Given the description of an element on the screen output the (x, y) to click on. 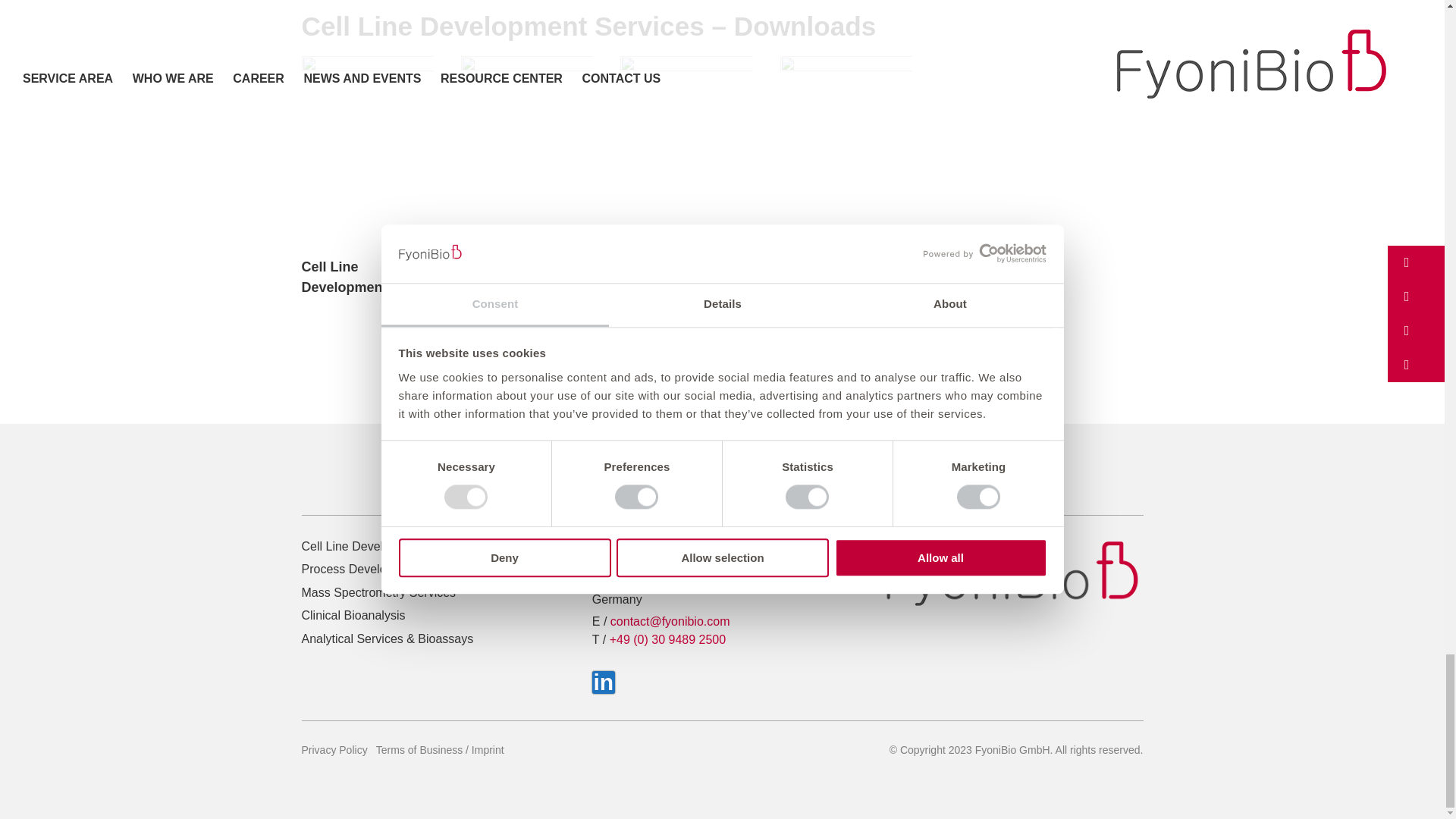
FyoniBio GmbH (1012, 572)
FyoniBio at LinkedIn (603, 681)
